Given the description of an element on the screen output the (x, y) to click on. 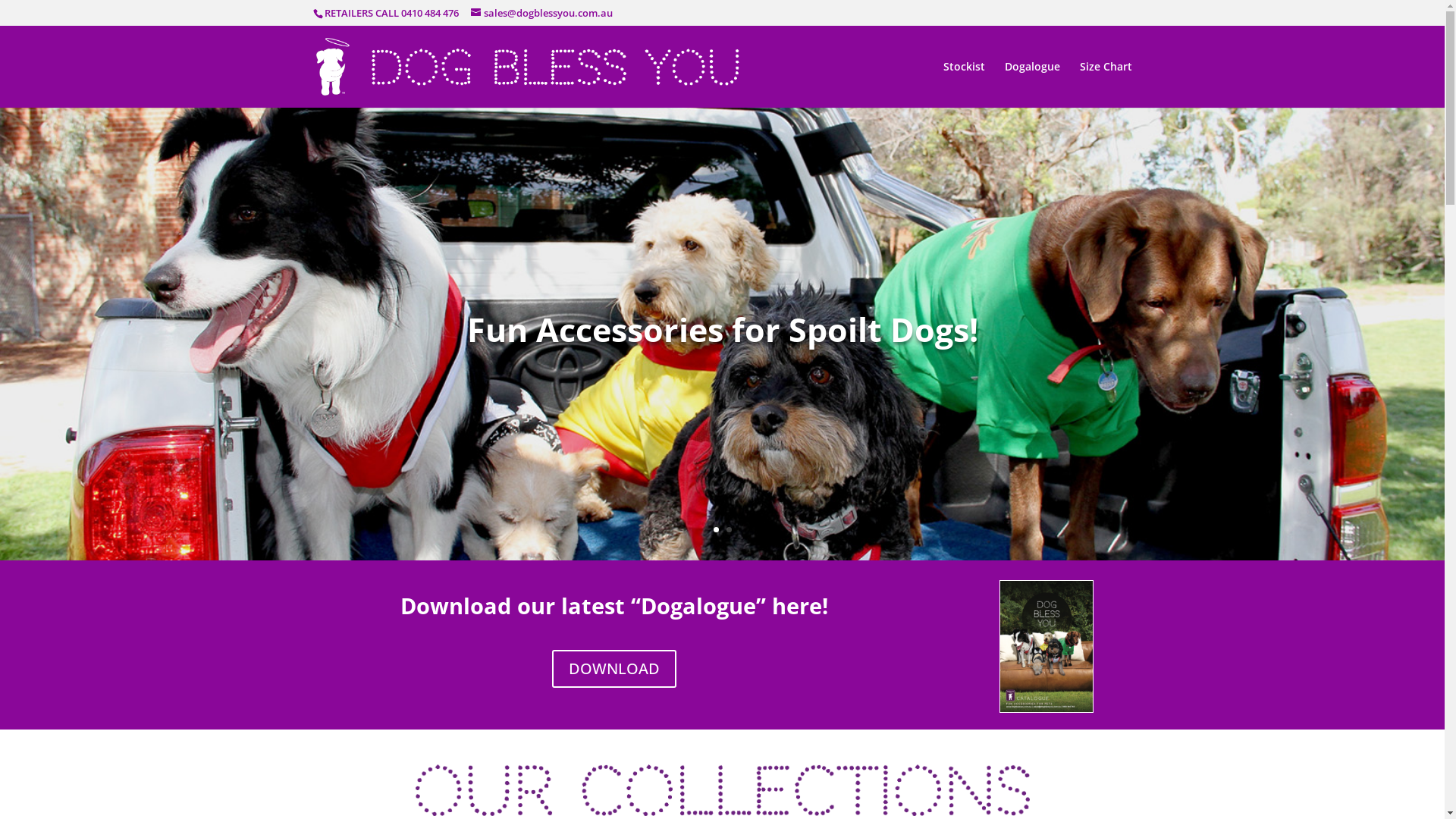
DOWNLOAD Element type: text (614, 668)
Size Chart Element type: text (1105, 83)
1 Element type: text (715, 529)
Dogalogue Element type: text (1031, 83)
sales@dogblessyou.com.au Element type: text (540, 12)
Dogologue Cover Element type: hover (1046, 646)
Stockist Element type: text (964, 83)
2 Element type: text (728, 529)
Collection Header Element type: hover (722, 789)
